Given the description of an element on the screen output the (x, y) to click on. 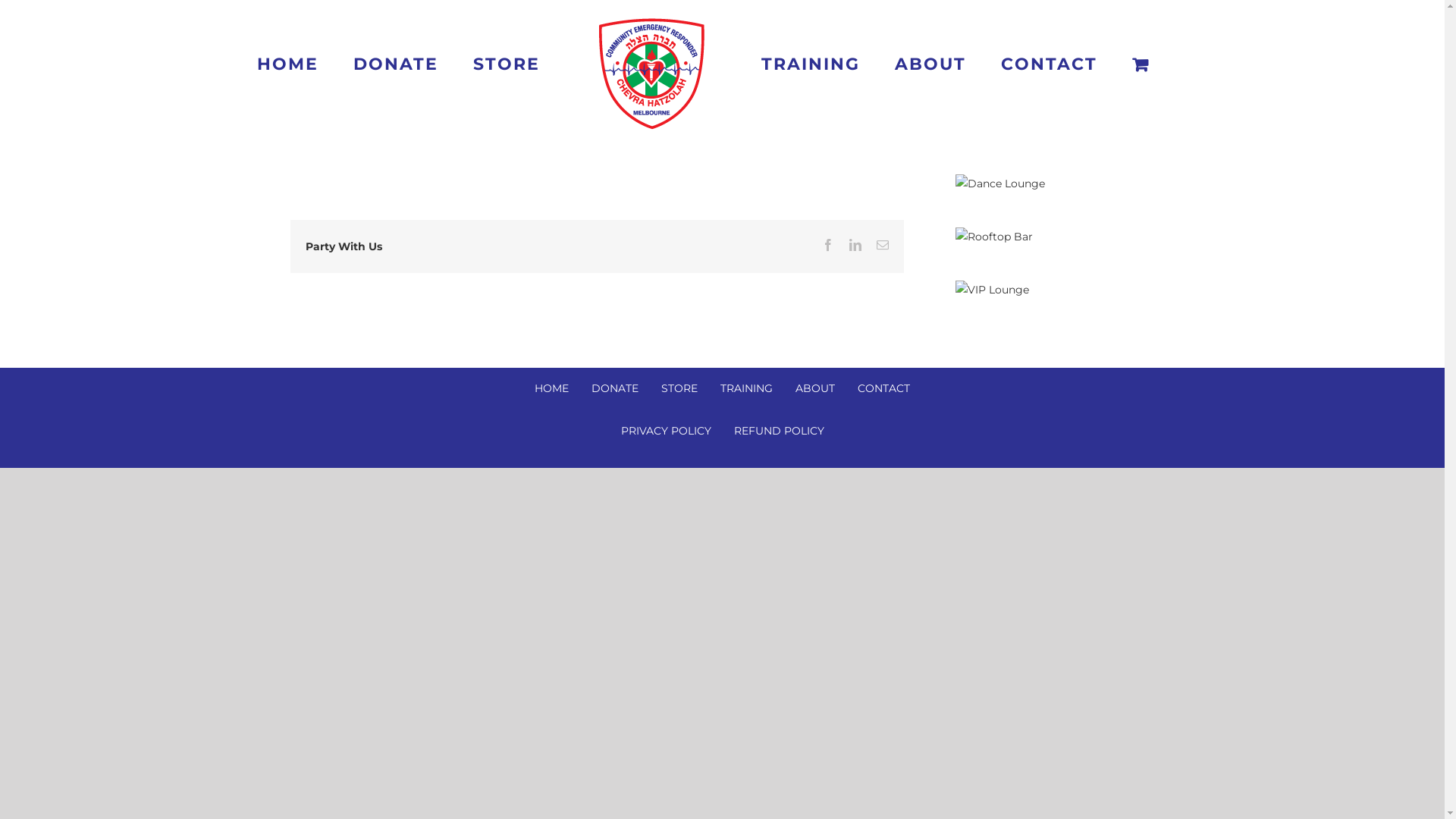
ABOUT Element type: text (814, 388)
ABOUT Element type: text (930, 64)
TRAINING Element type: text (746, 388)
HOME Element type: text (287, 64)
REFUND POLICY Element type: text (779, 431)
DONATE Element type: text (395, 64)
CONTACT Element type: text (883, 388)
Facebook Element type: text (828, 244)
CONTACT Element type: text (1049, 64)
Email Element type: text (882, 244)
PRIVACY POLICY Element type: text (665, 431)
STORE Element type: text (506, 64)
HOME Element type: text (551, 388)
LinkedIn Element type: text (855, 244)
STORE Element type: text (679, 388)
TRAINING Element type: text (810, 64)
DONATE Element type: text (614, 388)
